Given the description of an element on the screen output the (x, y) to click on. 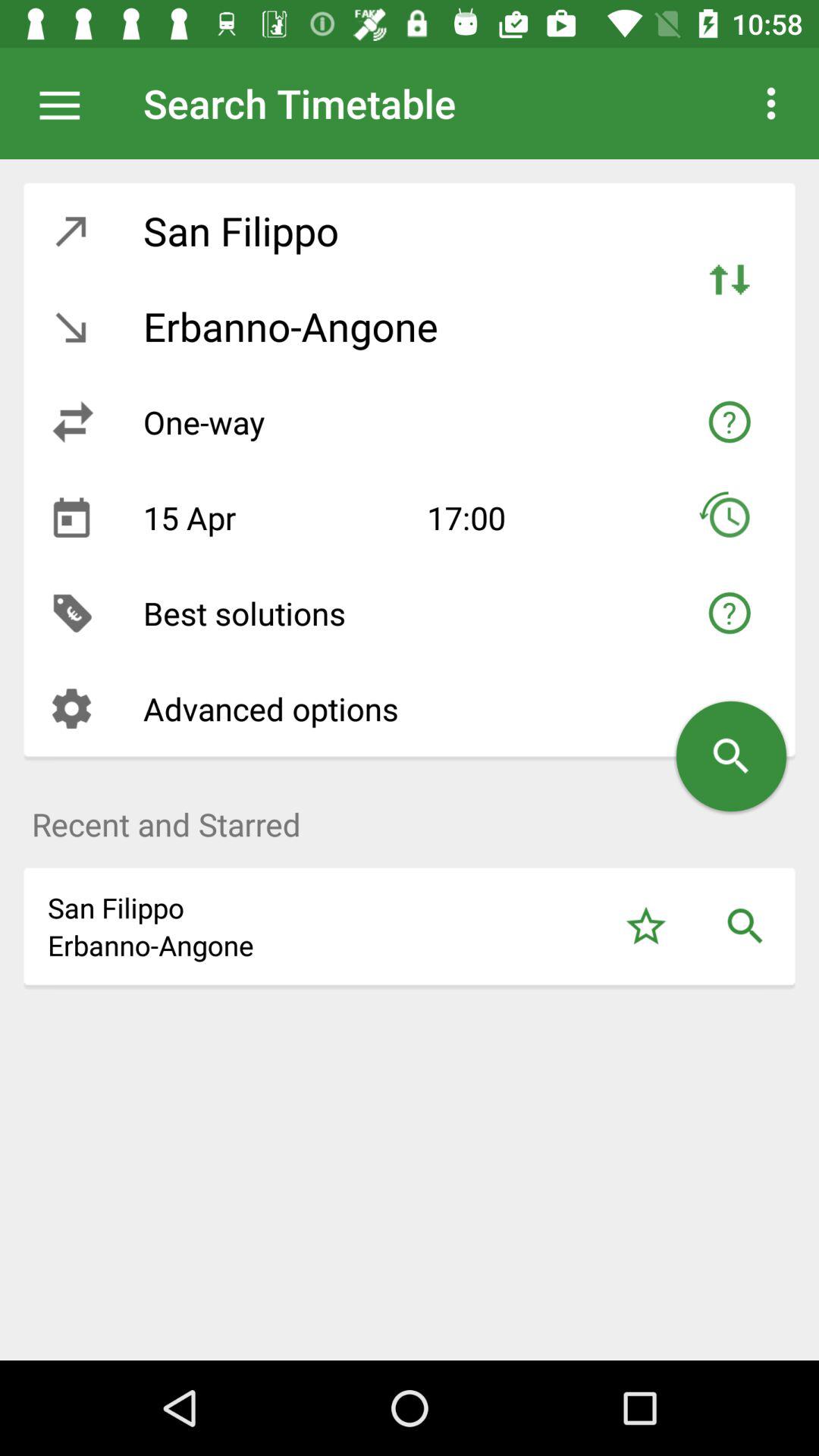
click the icon next to the 15 apr icon (71, 517)
